Given the description of an element on the screen output the (x, y) to click on. 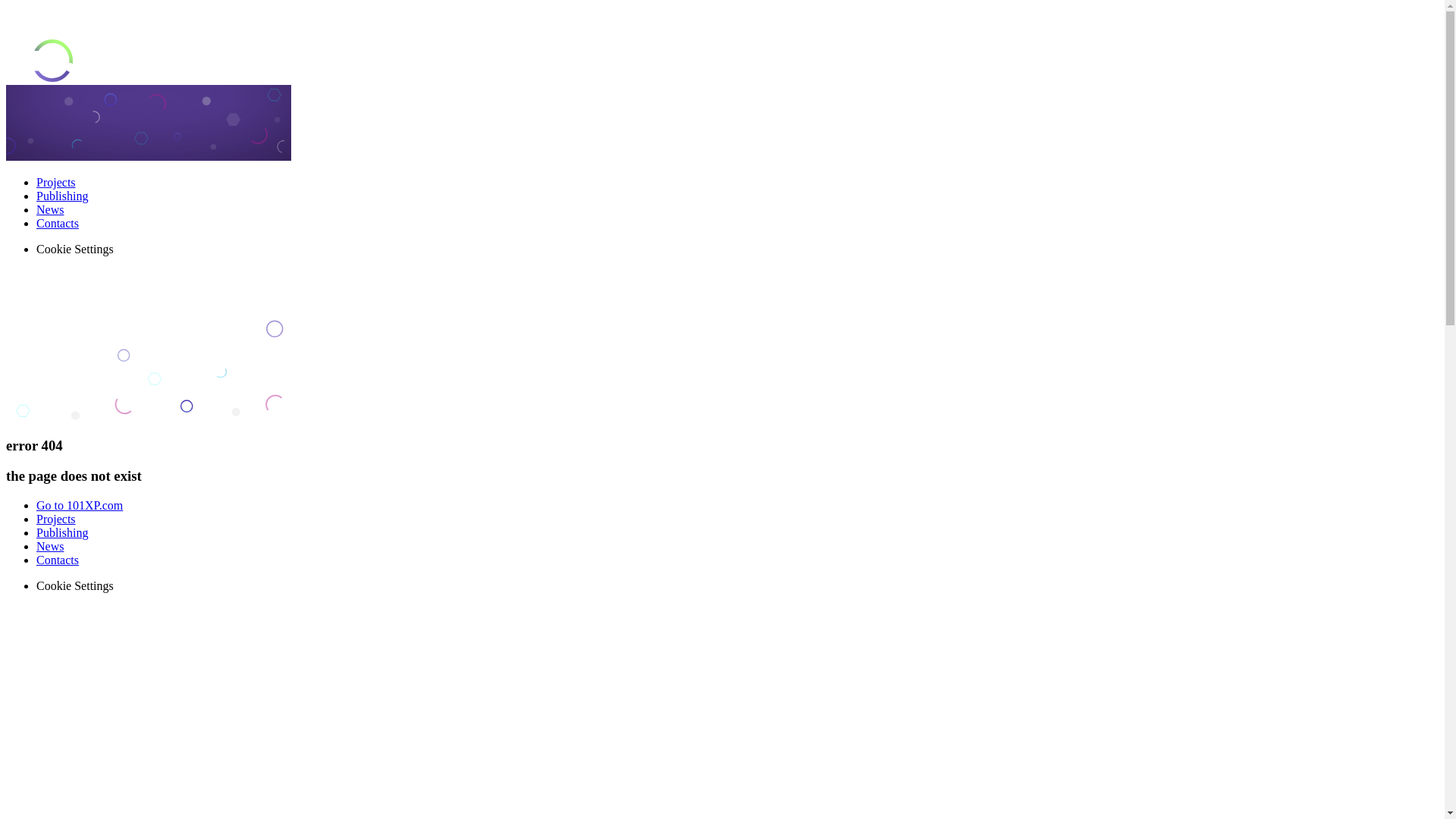
Projects Element type: text (55, 181)
Publishing Element type: text (61, 195)
News Element type: text (49, 209)
Projects Element type: text (55, 518)
Go to 101XP.com Element type: text (79, 504)
Contacts Element type: text (57, 222)
Contacts Element type: text (57, 559)
Publishing Element type: text (61, 532)
News Element type: text (49, 545)
